Given the description of an element on the screen output the (x, y) to click on. 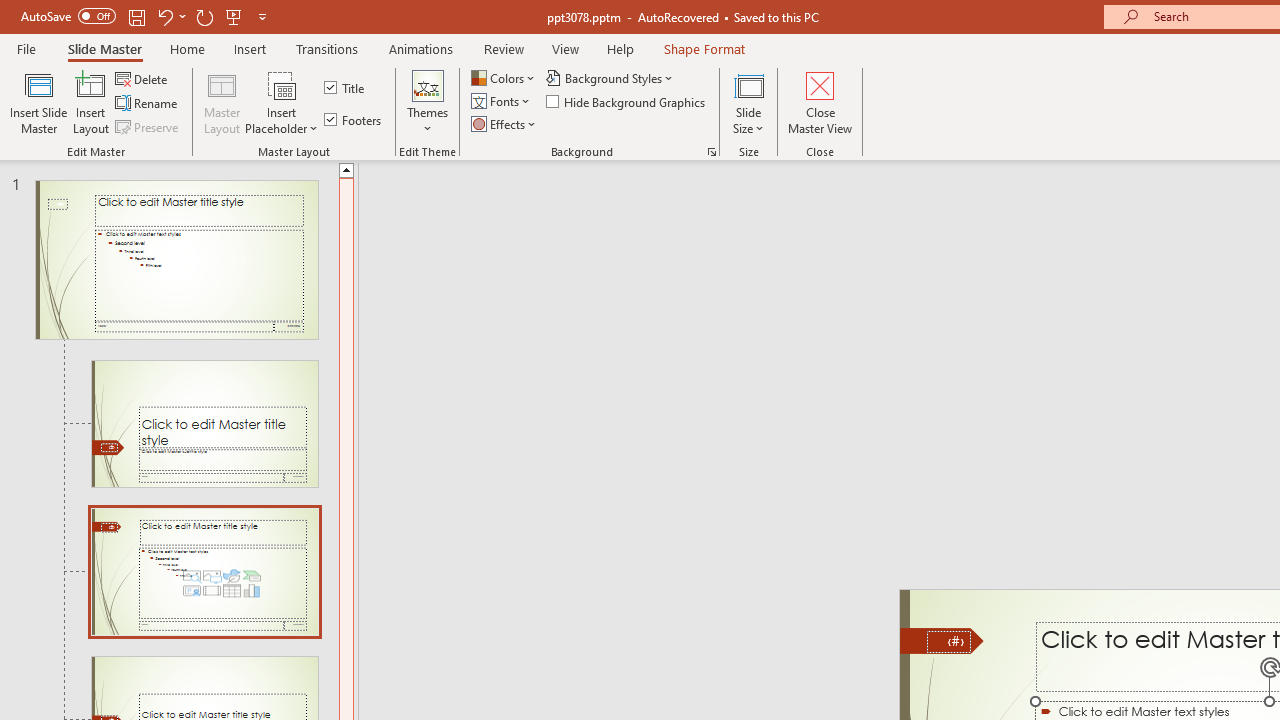
Themes (427, 102)
Slide Title and Content Layout: used by no slides (204, 572)
Title (346, 87)
Slide Master (104, 48)
Insert Slide Master (38, 102)
Insert Layout (91, 102)
Format Background... (711, 151)
Preserve (148, 126)
Line up (345, 169)
